Given the description of an element on the screen output the (x, y) to click on. 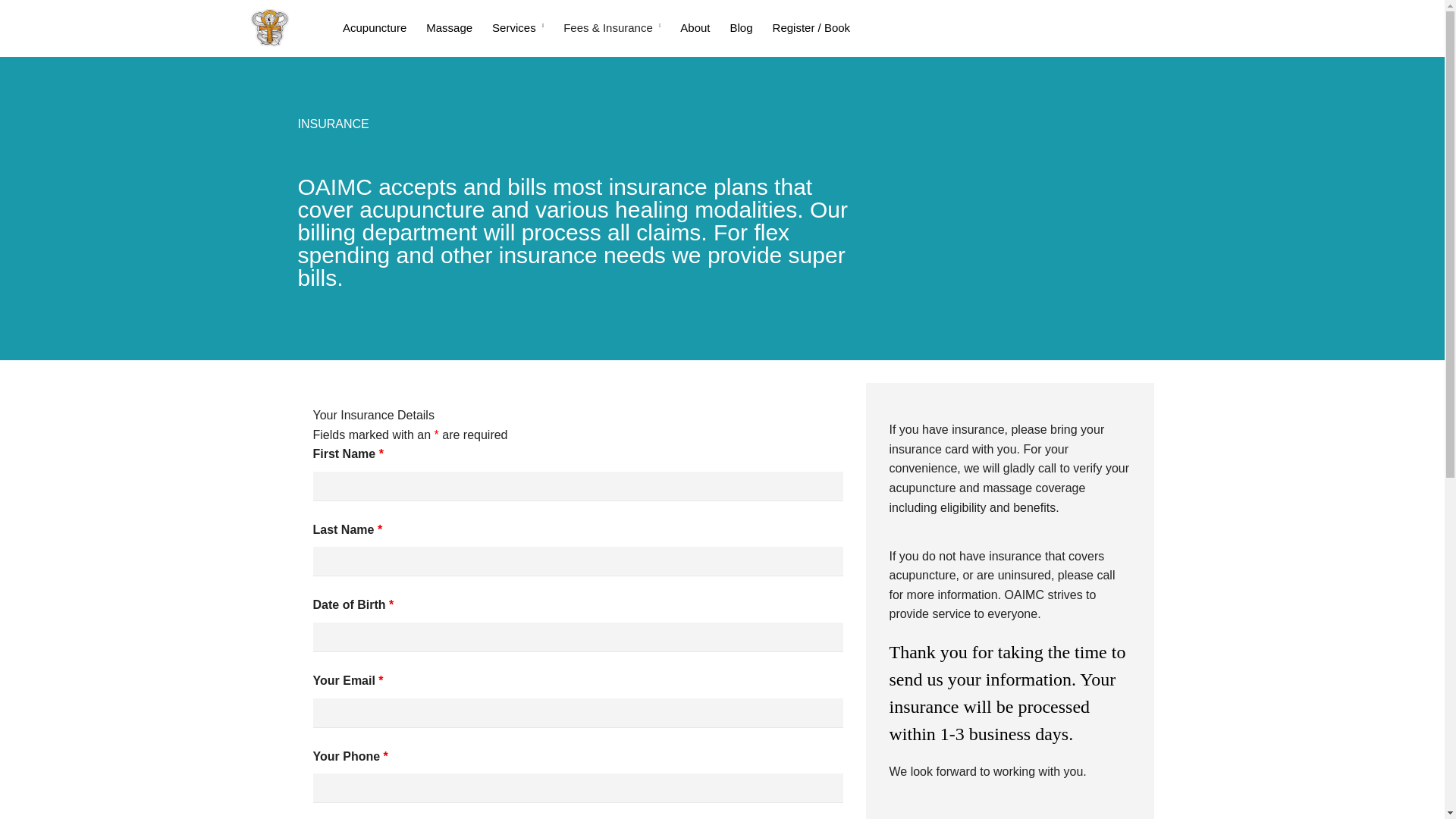
Schedule an Appointment (815, 424)
Massage (448, 27)
About (694, 27)
Services (383, 526)
Acupuncture (517, 27)
Blog (374, 27)
510.379.8910 (741, 27)
Check Insurance (350, 433)
